Given the description of an element on the screen output the (x, y) to click on. 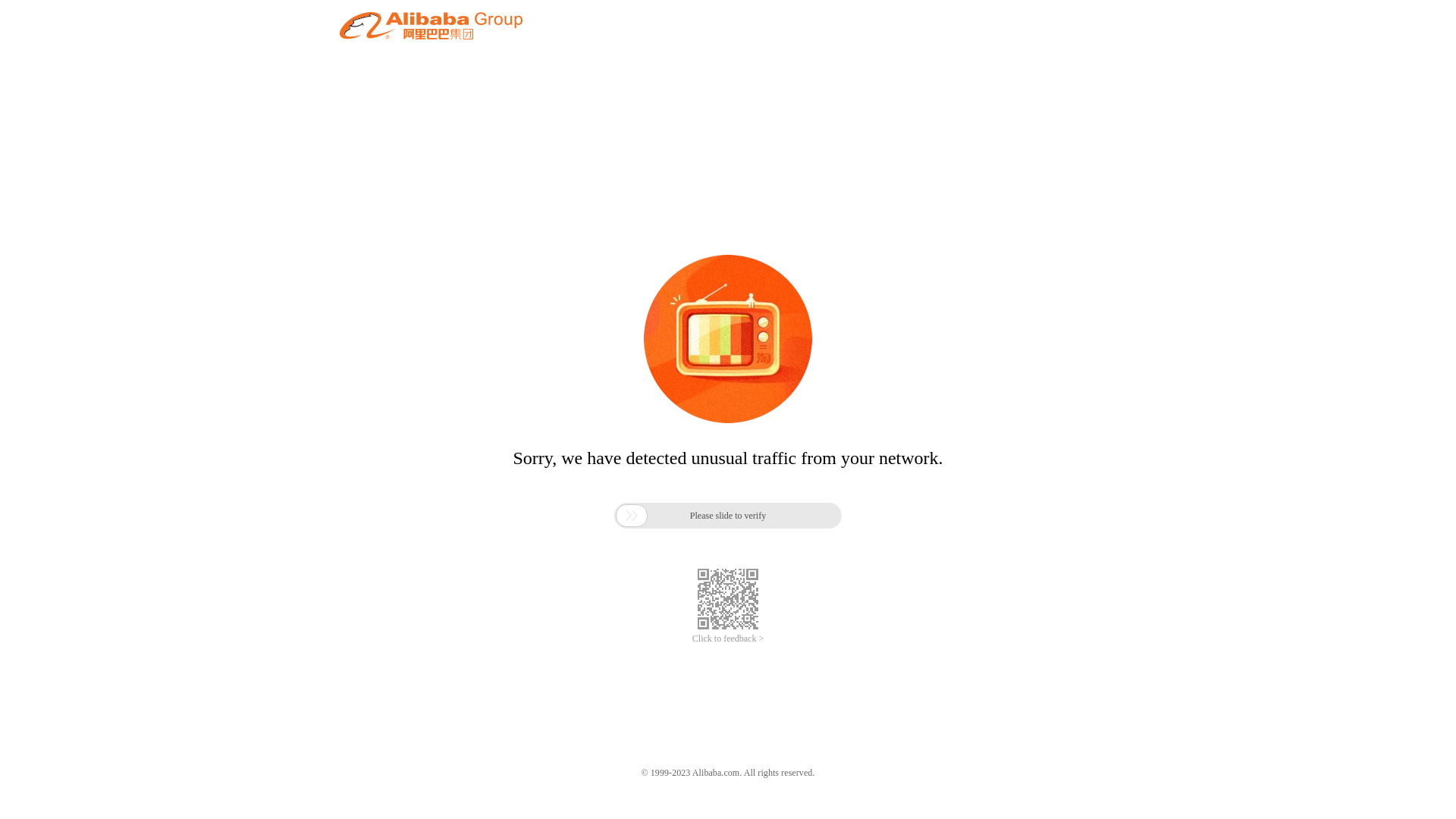
Click to feedback > Element type: text (727, 638)
